Given the description of an element on the screen output the (x, y) to click on. 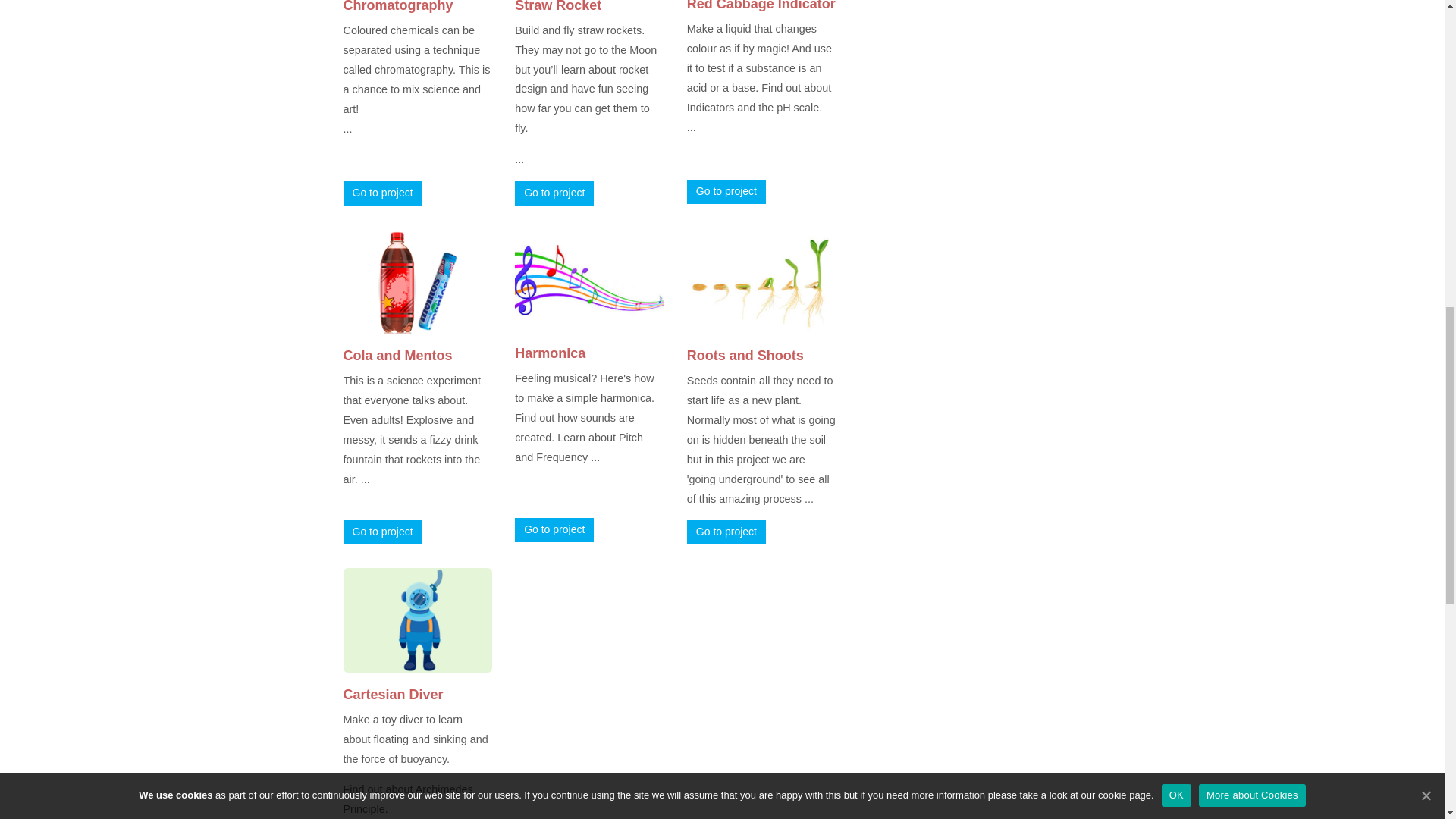
Chromatography (397, 6)
Red Cabbage Indicator (761, 5)
Cartesian Diver (392, 694)
Go to project (726, 532)
Go to project (726, 191)
Cola and Mentos (396, 355)
Go to project (554, 529)
Go to project (382, 192)
Roots and Shoots (745, 355)
Go to project (382, 532)
Go to project (554, 192)
Harmonica (550, 353)
Straw Rocket (558, 6)
